Given the description of an element on the screen output the (x, y) to click on. 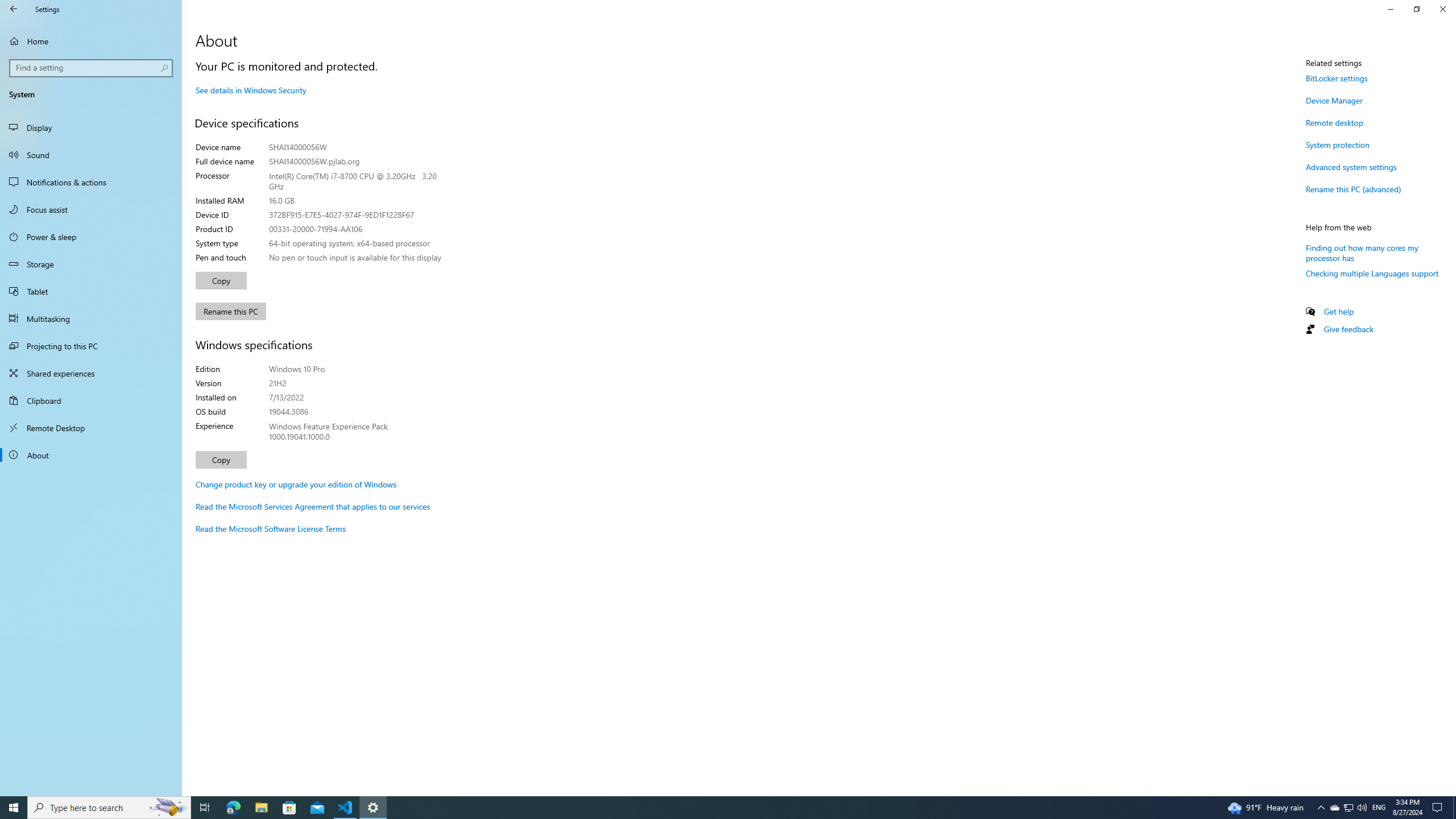
Restore Settings (1416, 9)
About (91, 454)
Advanced system settings (1351, 166)
Multitasking (91, 318)
Remote Desktop (91, 427)
Rename this PC (advanced) (1353, 188)
Sound (91, 154)
Change product key or upgrade your edition of Windows (296, 484)
Device Manager (1334, 100)
Checking multiple Languages support (1372, 272)
